Given the description of an element on the screen output the (x, y) to click on. 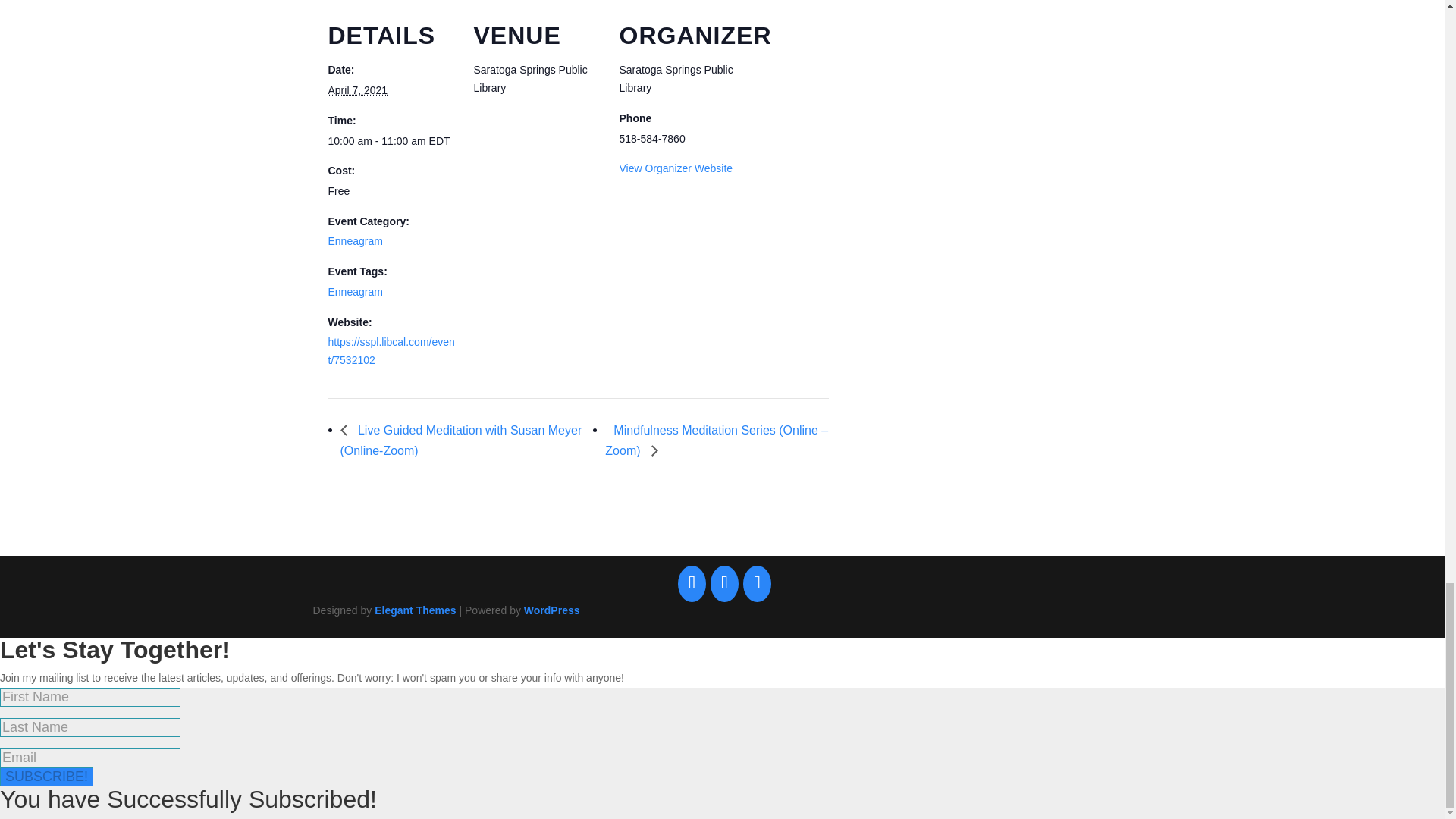
Enneagram (354, 241)
Premium WordPress Themes (414, 610)
Enneagram (354, 291)
2021-04-07 (390, 141)
View Organizer Website (675, 168)
2021-04-07 (357, 90)
